Given the description of an element on the screen output the (x, y) to click on. 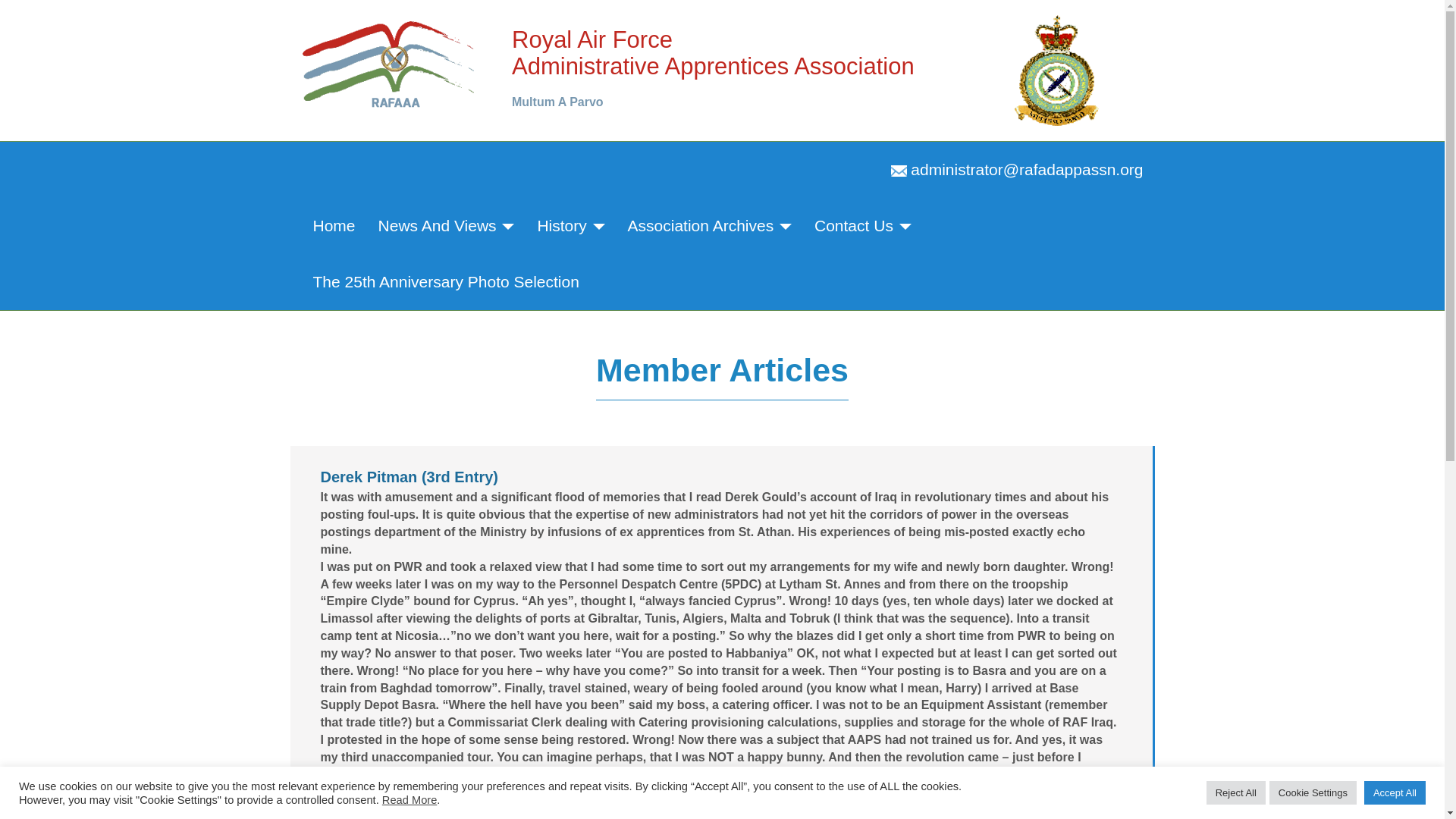
Contact Us (863, 225)
Royal Air Force Administrative Apprentices Association (389, 62)
Association Archives (709, 225)
History (570, 225)
News And Views (445, 225)
Home (333, 225)
News And Views (445, 225)
Home (333, 225)
